Given the description of an element on the screen output the (x, y) to click on. 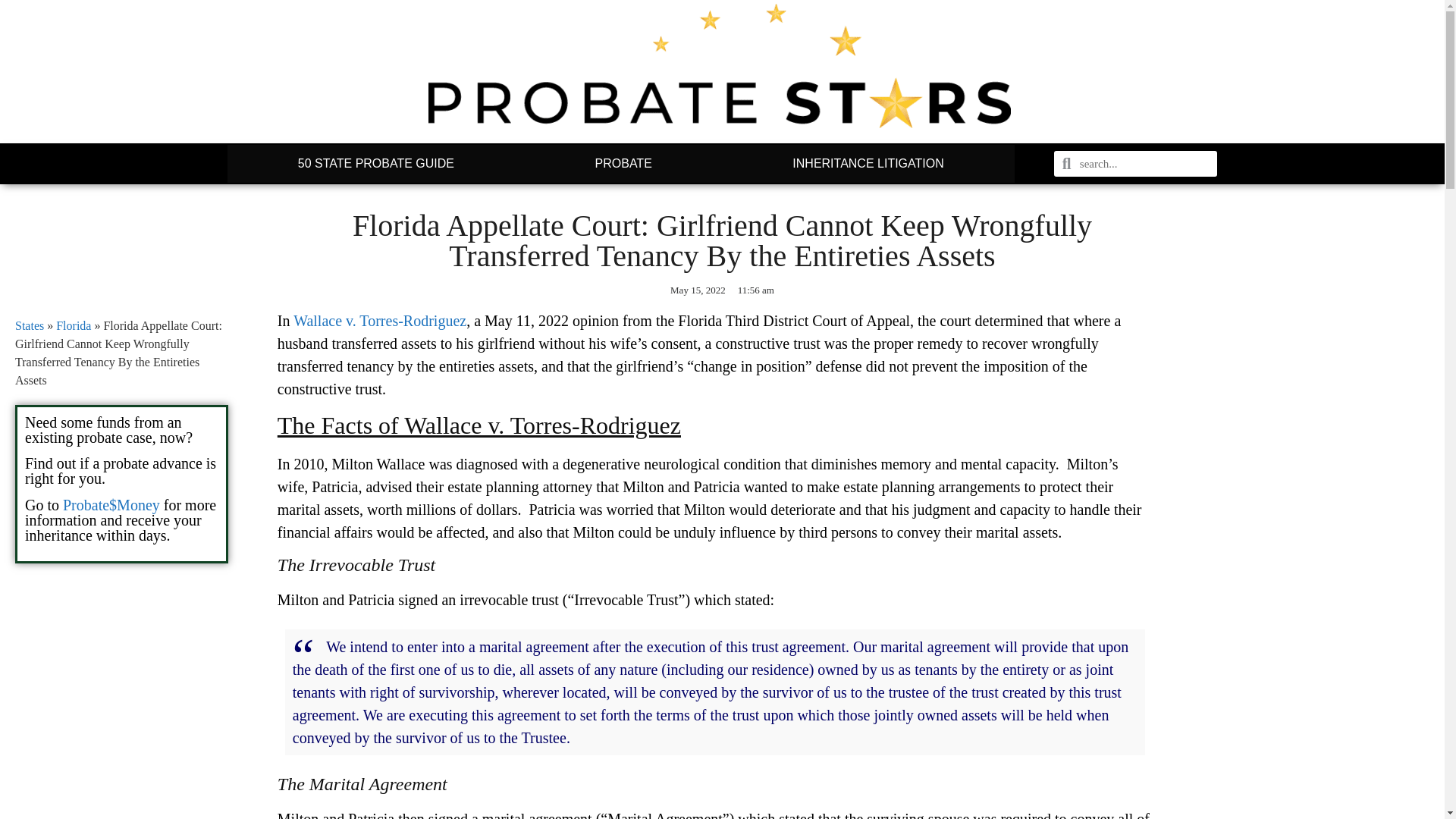
50 STATE PROBATE GUIDE (375, 163)
